Given the description of an element on the screen output the (x, y) to click on. 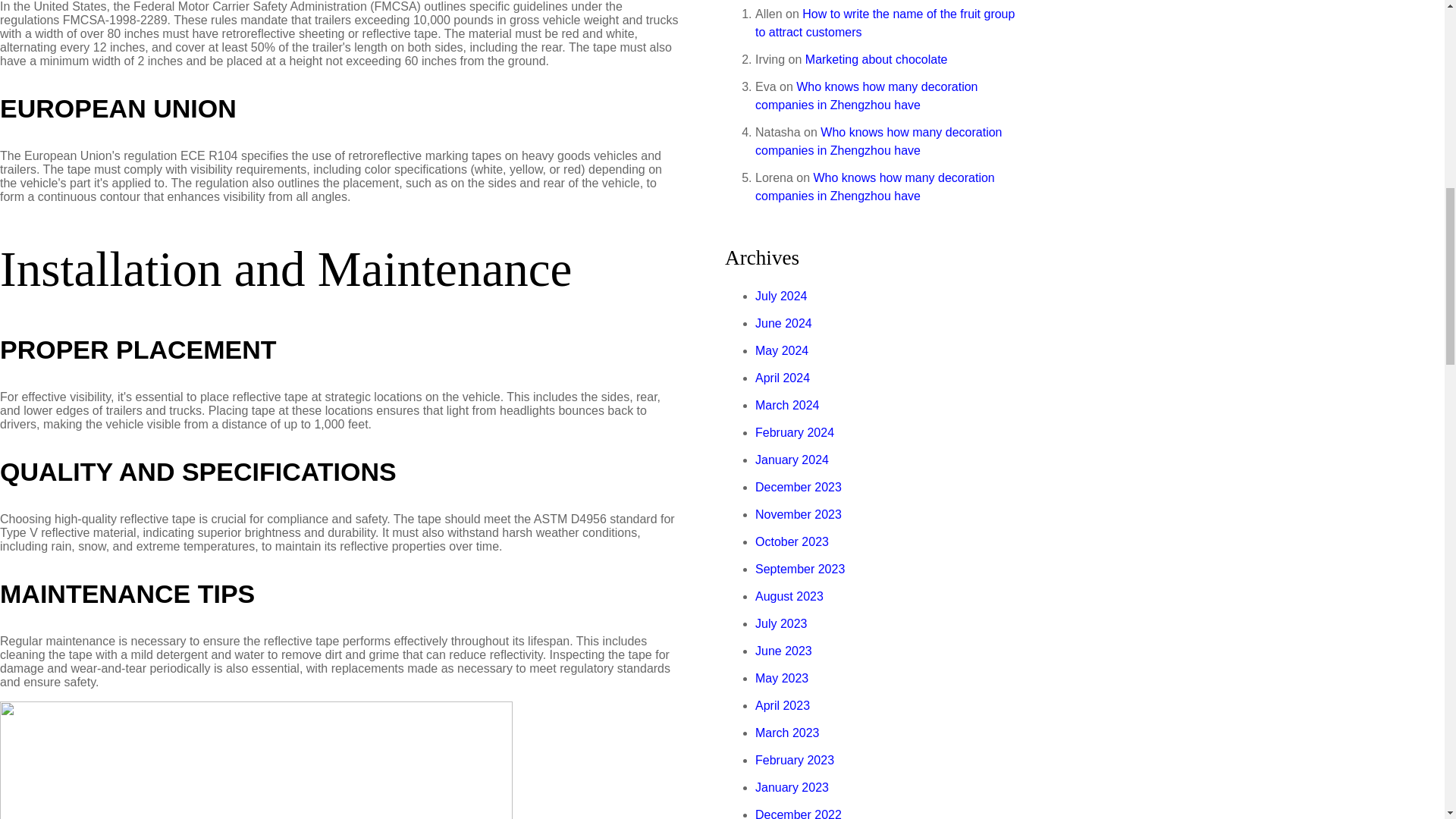
Who knows how many decoration companies in Zhengzhou have (874, 186)
Who knows how many decoration companies in Zhengzhou have (879, 141)
Who knows how many decoration companies in Zhengzhou have (866, 95)
Marketing about chocolate (876, 59)
